Given the description of an element on the screen output the (x, y) to click on. 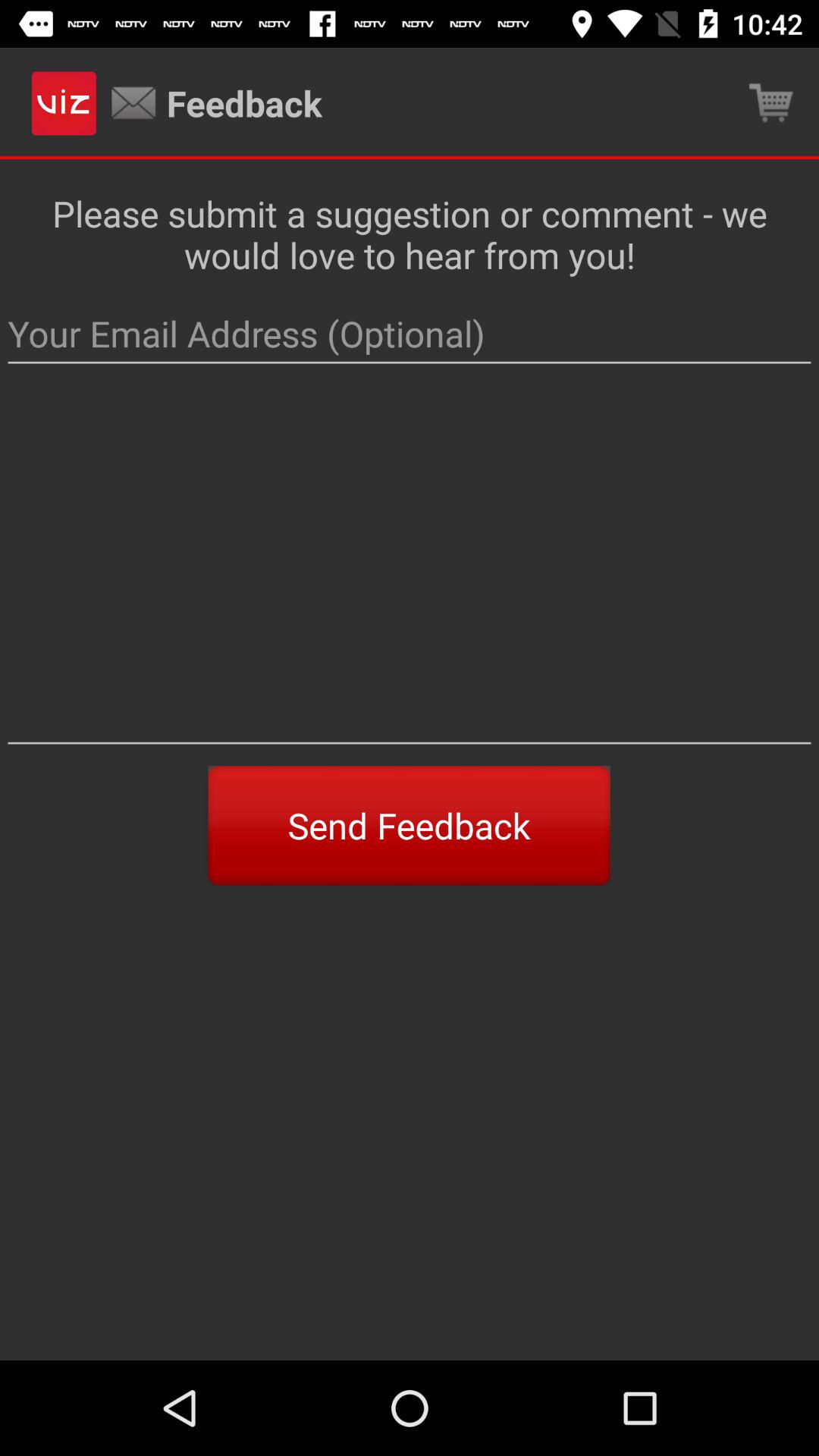
select the send feedback item (409, 825)
